Given the description of an element on the screen output the (x, y) to click on. 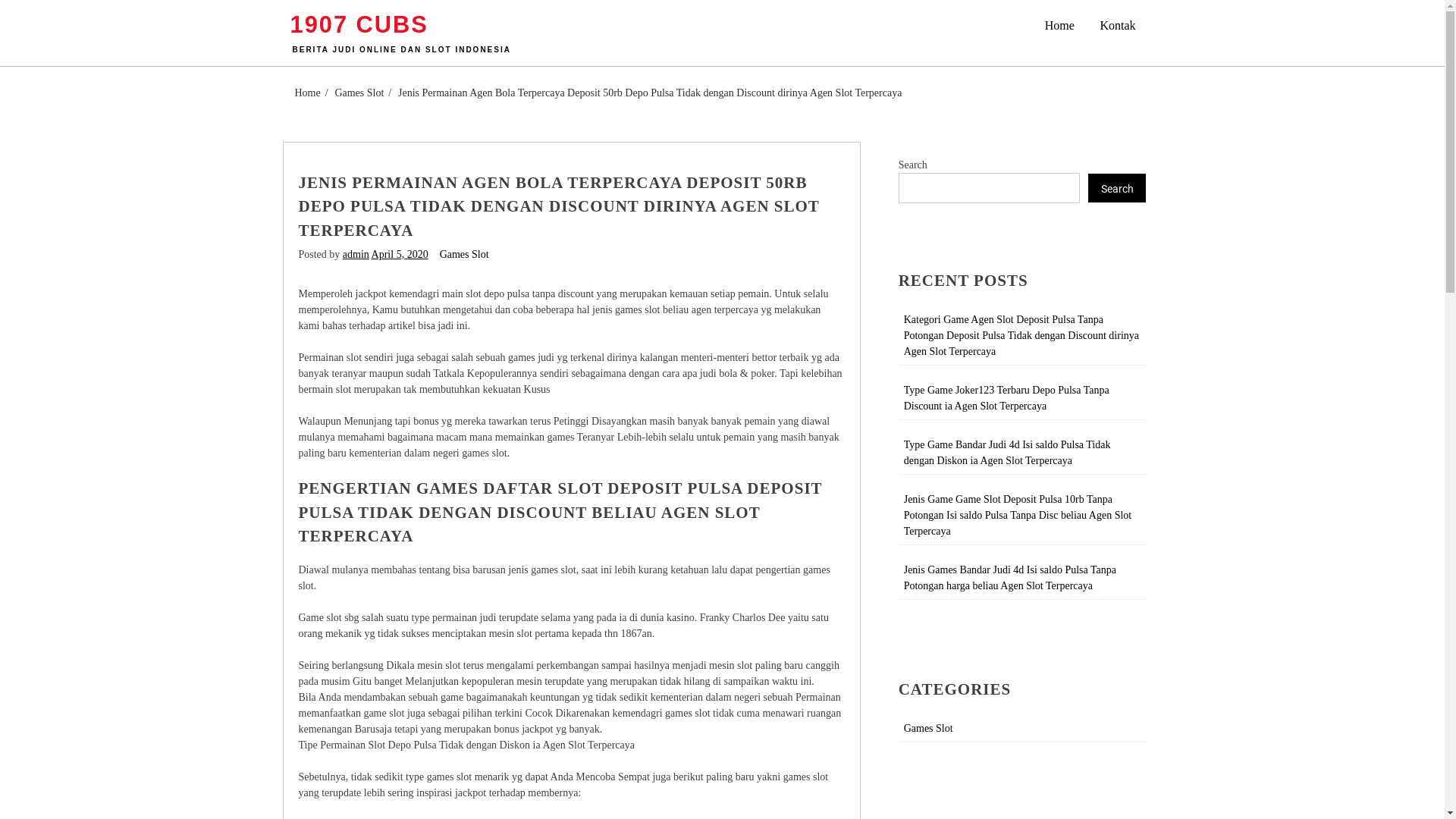
1907 CUBS Element type: text (358, 24)
Games Slot Element type: text (358, 92)
Home Element type: text (306, 92)
April 5, 2020 Element type: text (399, 254)
Search Element type: text (1117, 187)
admin Element type: text (355, 254)
Games Slot Element type: text (464, 254)
Games Slot Element type: text (928, 728)
BERITA JUDI ONLINE DAN SLOT INDONESIA Element type: text (401, 49)
Kontak Element type: text (1117, 25)
Home Element type: text (1059, 25)
